Given the description of an element on the screen output the (x, y) to click on. 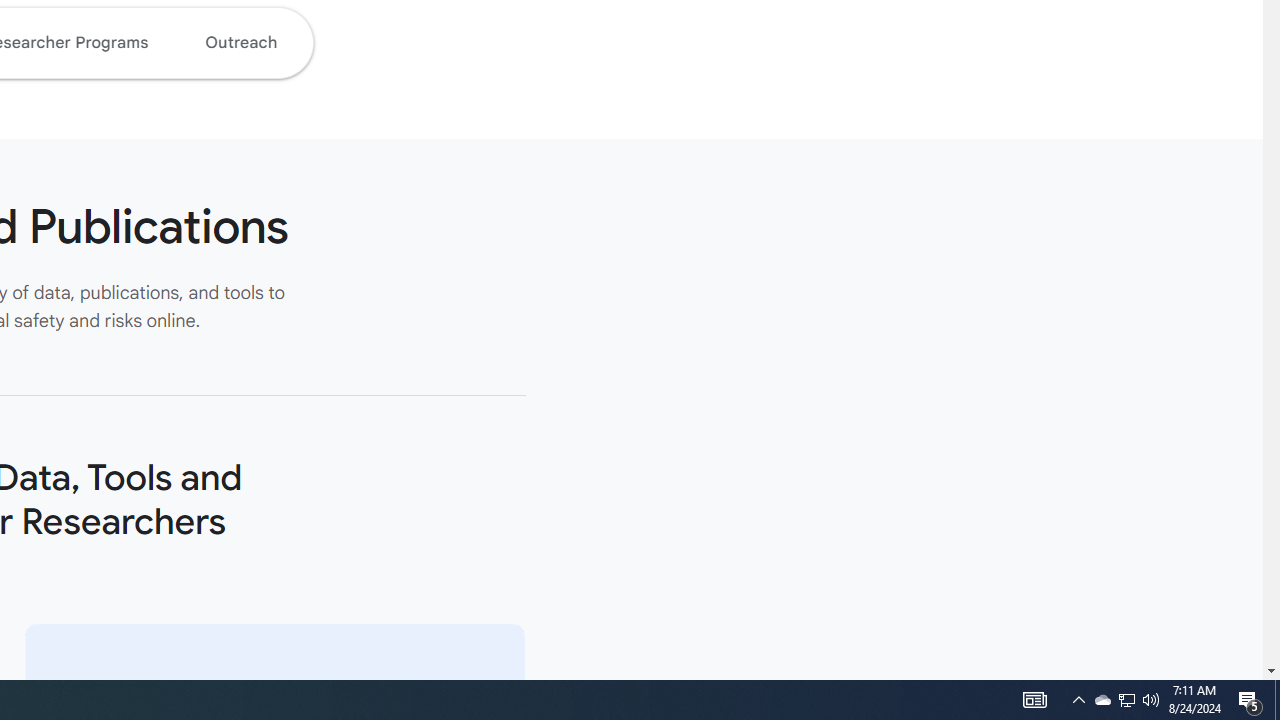
Outreach (240, 42)
